Given the description of an element on the screen output the (x, y) to click on. 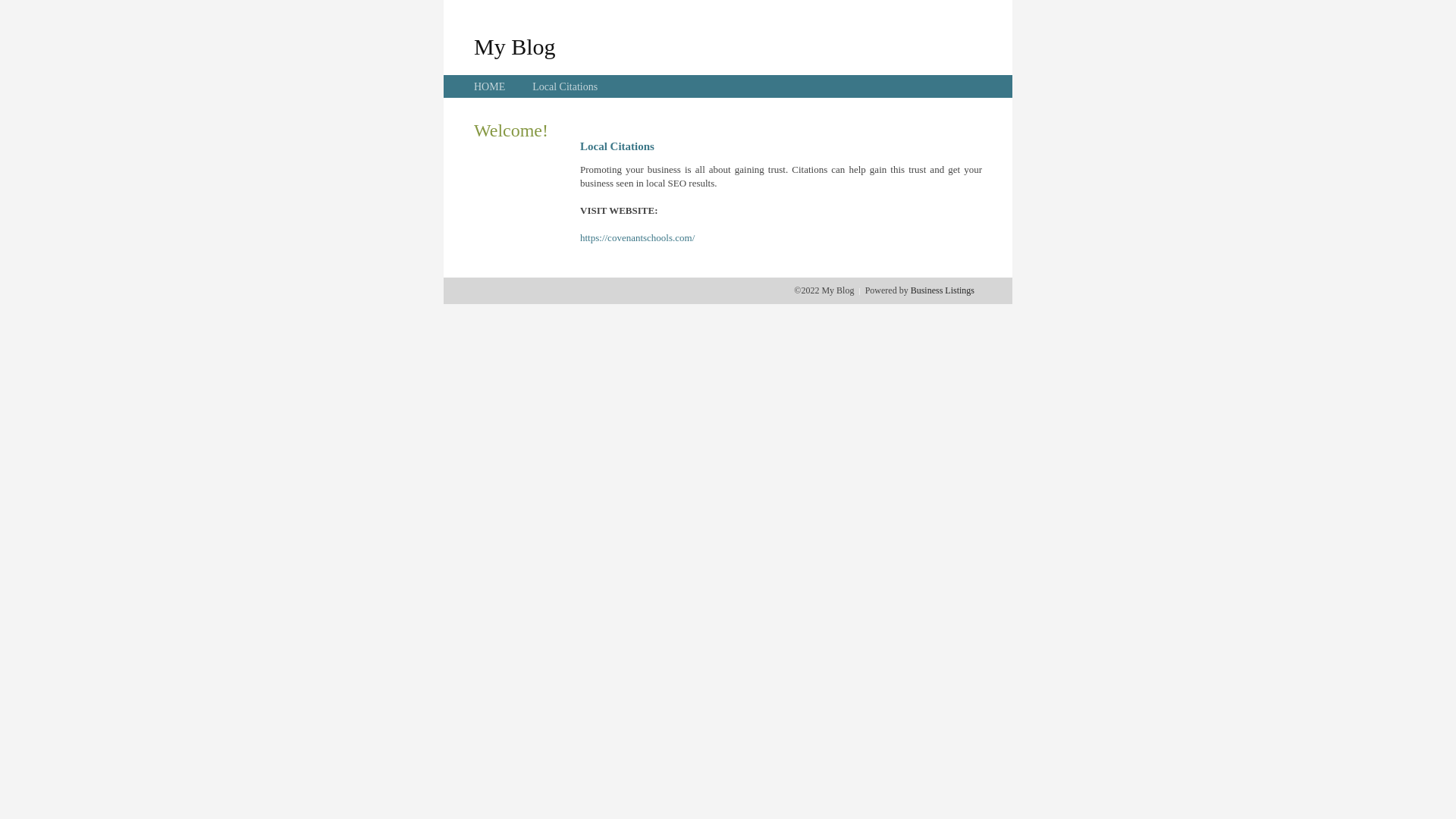
HOME Element type: text (489, 86)
https://covenantschools.com/ Element type: text (637, 237)
My Blog Element type: text (514, 46)
Local Citations Element type: text (564, 86)
Business Listings Element type: text (942, 290)
